Given the description of an element on the screen output the (x, y) to click on. 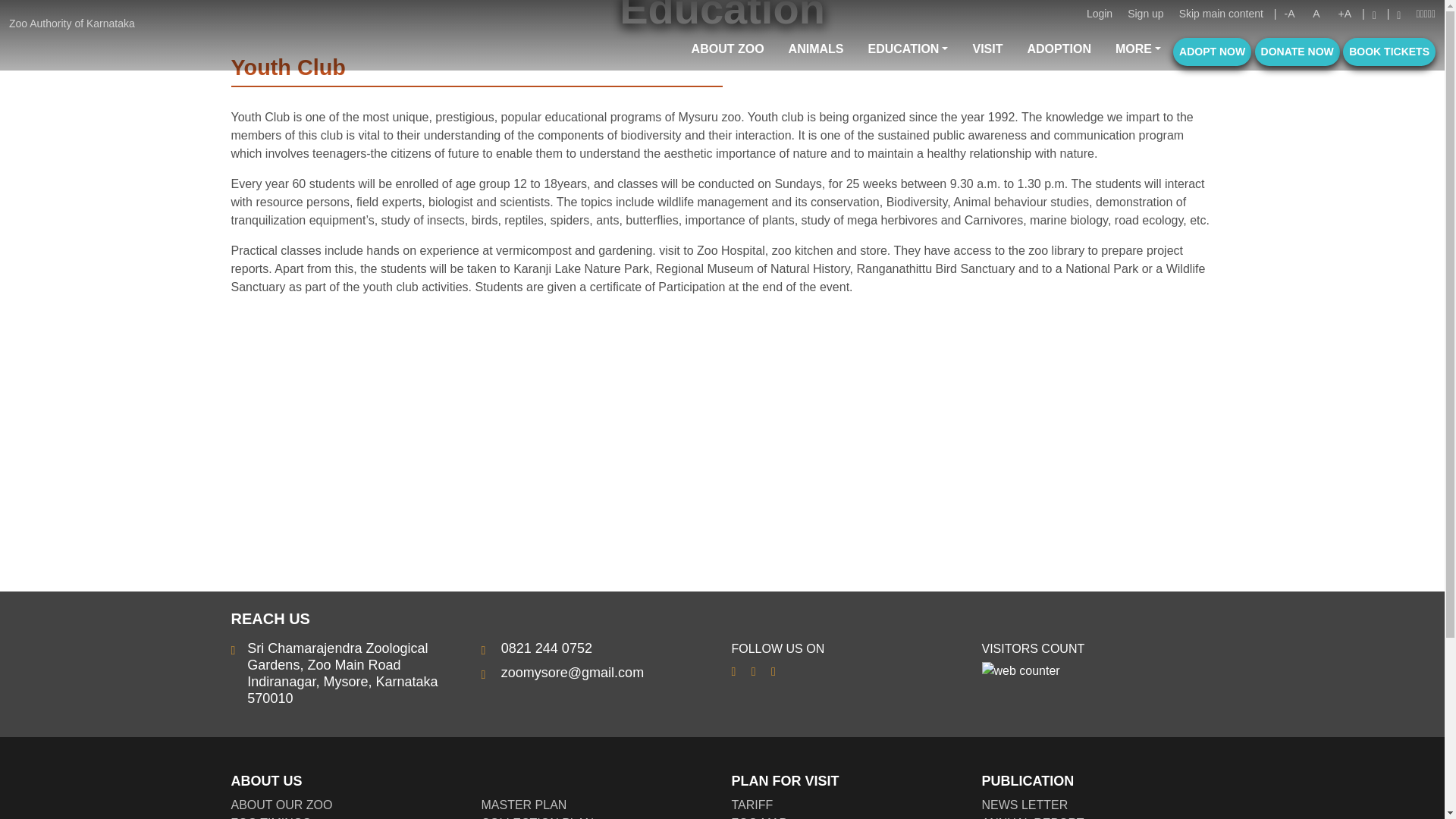
Skip main content (1220, 13)
VISIT (987, 49)
COLLECTION PLAN (536, 817)
DONATE NOW (1297, 51)
Sign up (1144, 13)
ADOPT NOW (1211, 51)
A (1315, 13)
ABOUT OUR ZOO (280, 804)
EDUCATION (907, 49)
MASTER PLAN (523, 804)
